Given the description of an element on the screen output the (x, y) to click on. 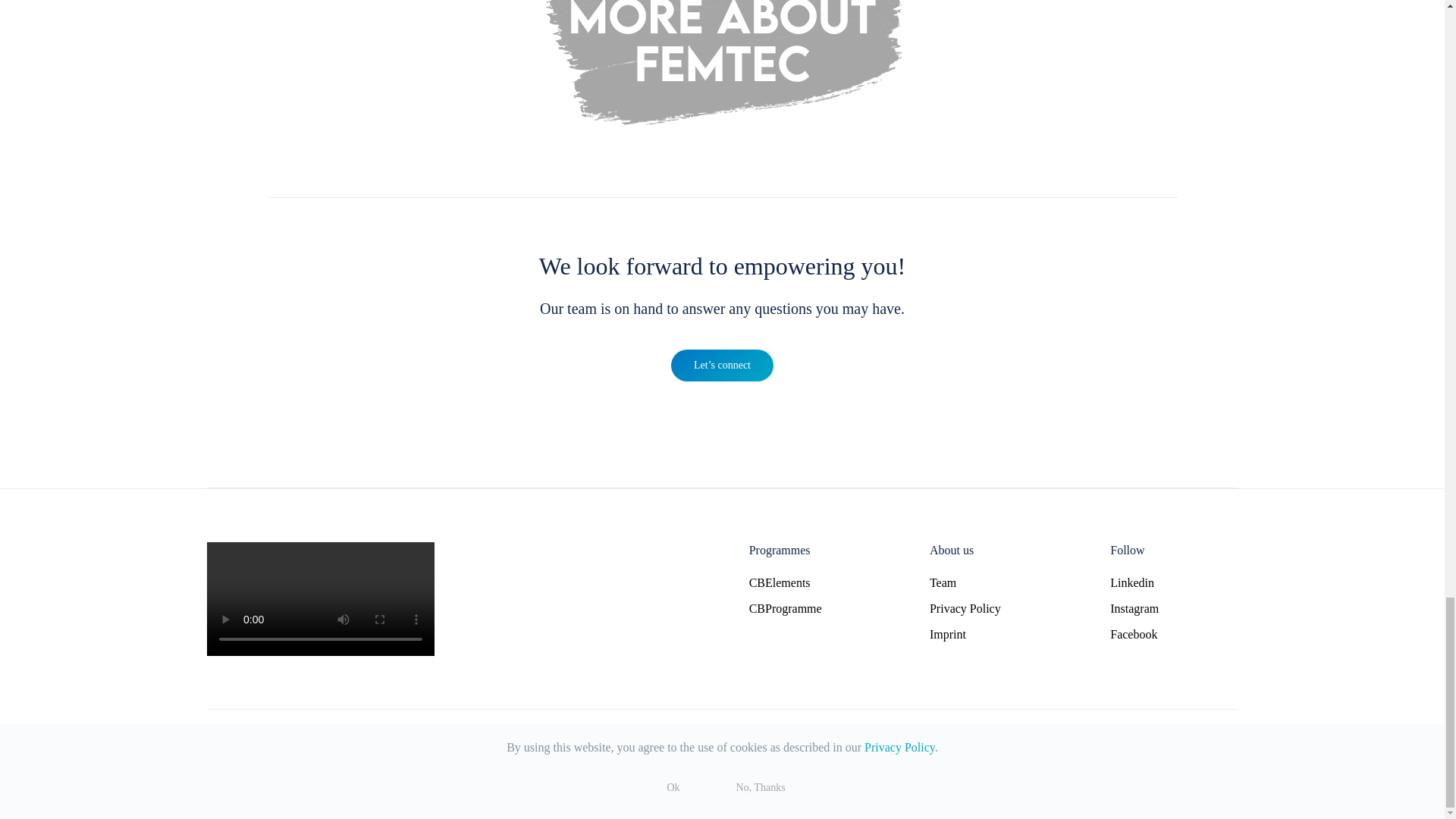
CBProgramme (812, 608)
CBElements (812, 583)
Instagram (1133, 608)
Facebook (1173, 634)
Linkedin (1131, 582)
Imprint (993, 634)
Team (993, 583)
Privacy Policy (993, 608)
About us (952, 549)
Back to Top (1226, 749)
